Given the description of an element on the screen output the (x, y) to click on. 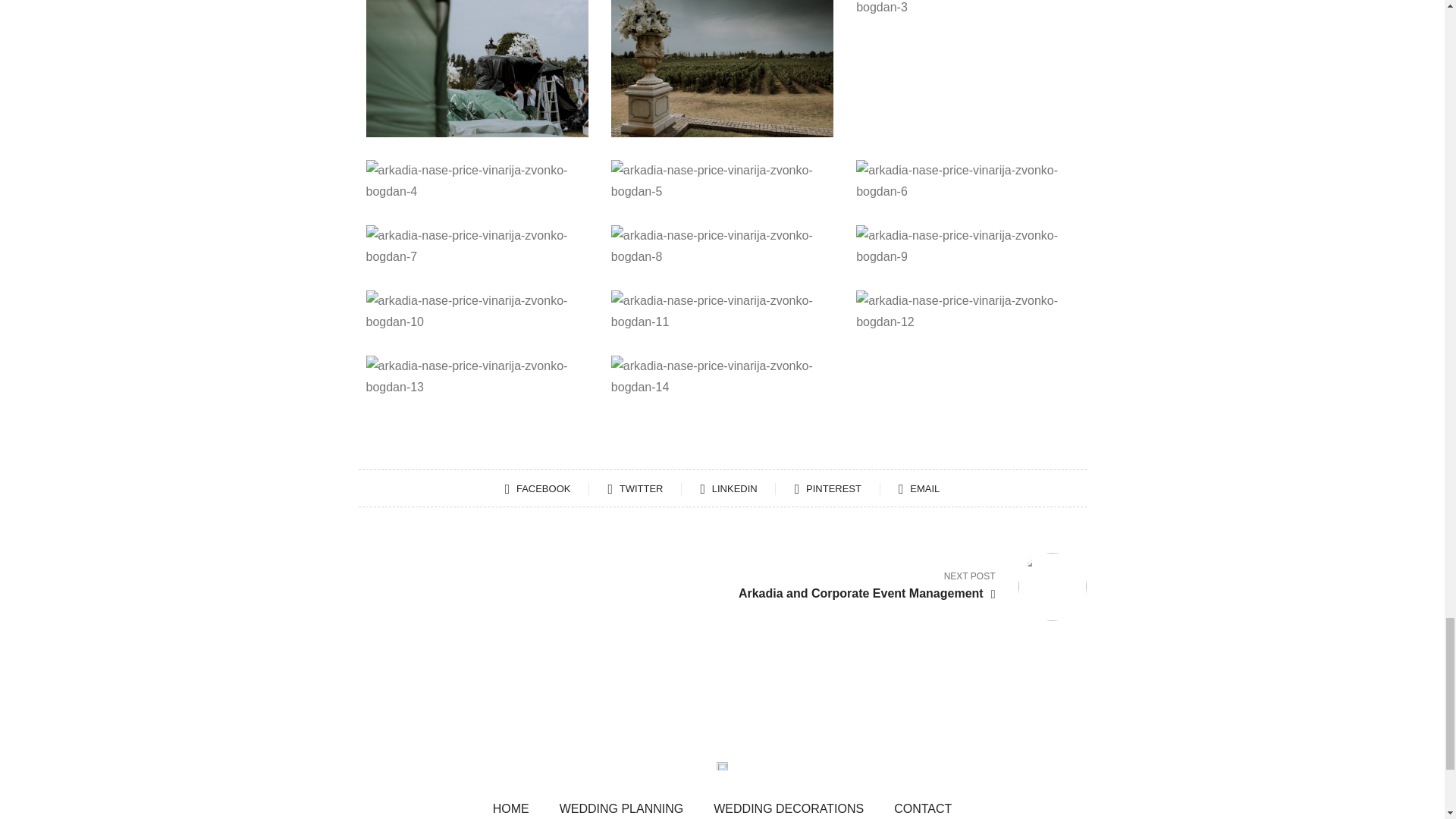
Share on Twitter (652, 488)
Share on Pinterest (844, 488)
Share on LinkedIn (746, 488)
Share on facebook (554, 488)
Email to a Friend (918, 488)
